Given the description of an element on the screen output the (x, y) to click on. 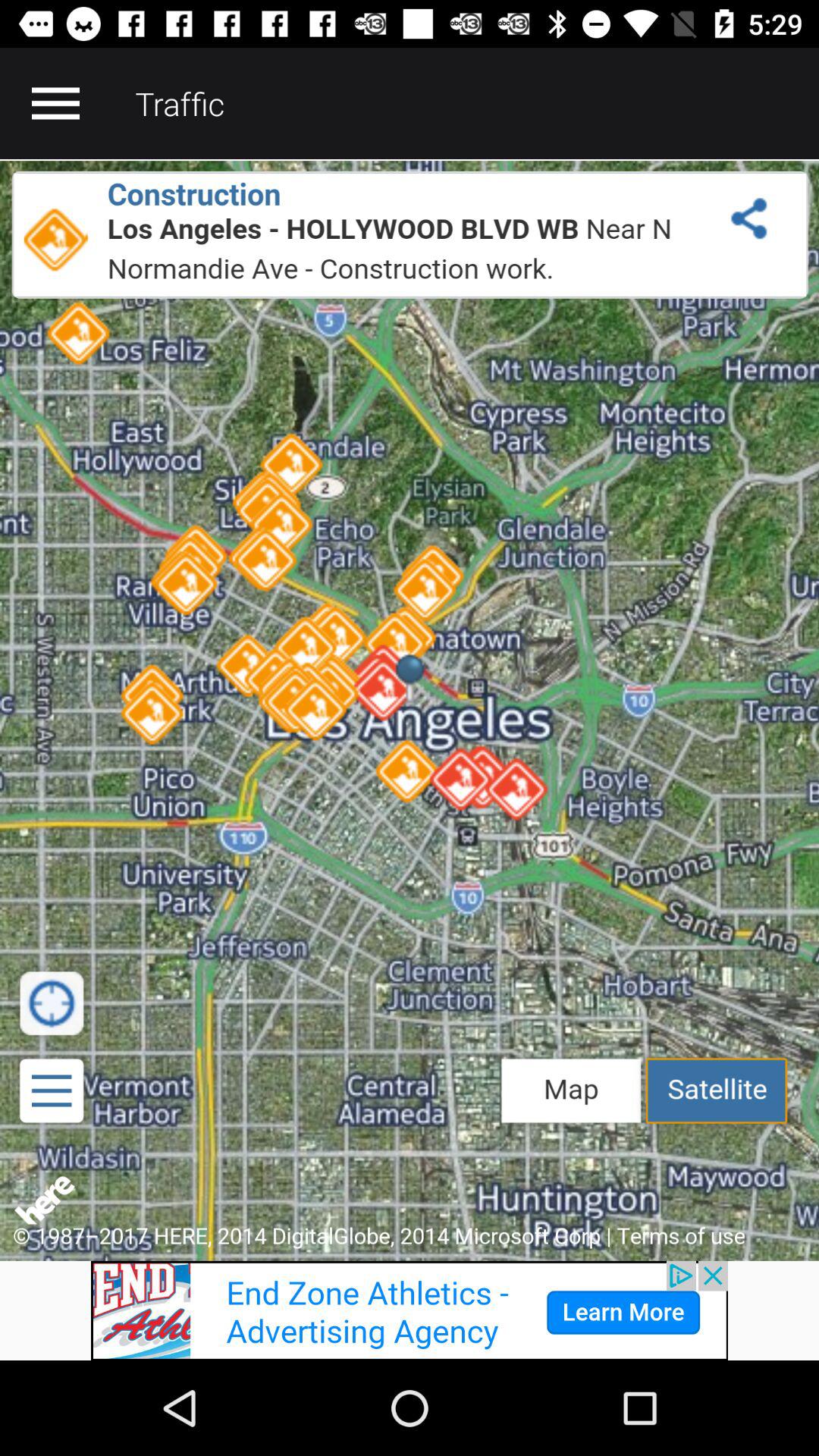
advertisement (409, 1310)
